Given the description of an element on the screen output the (x, y) to click on. 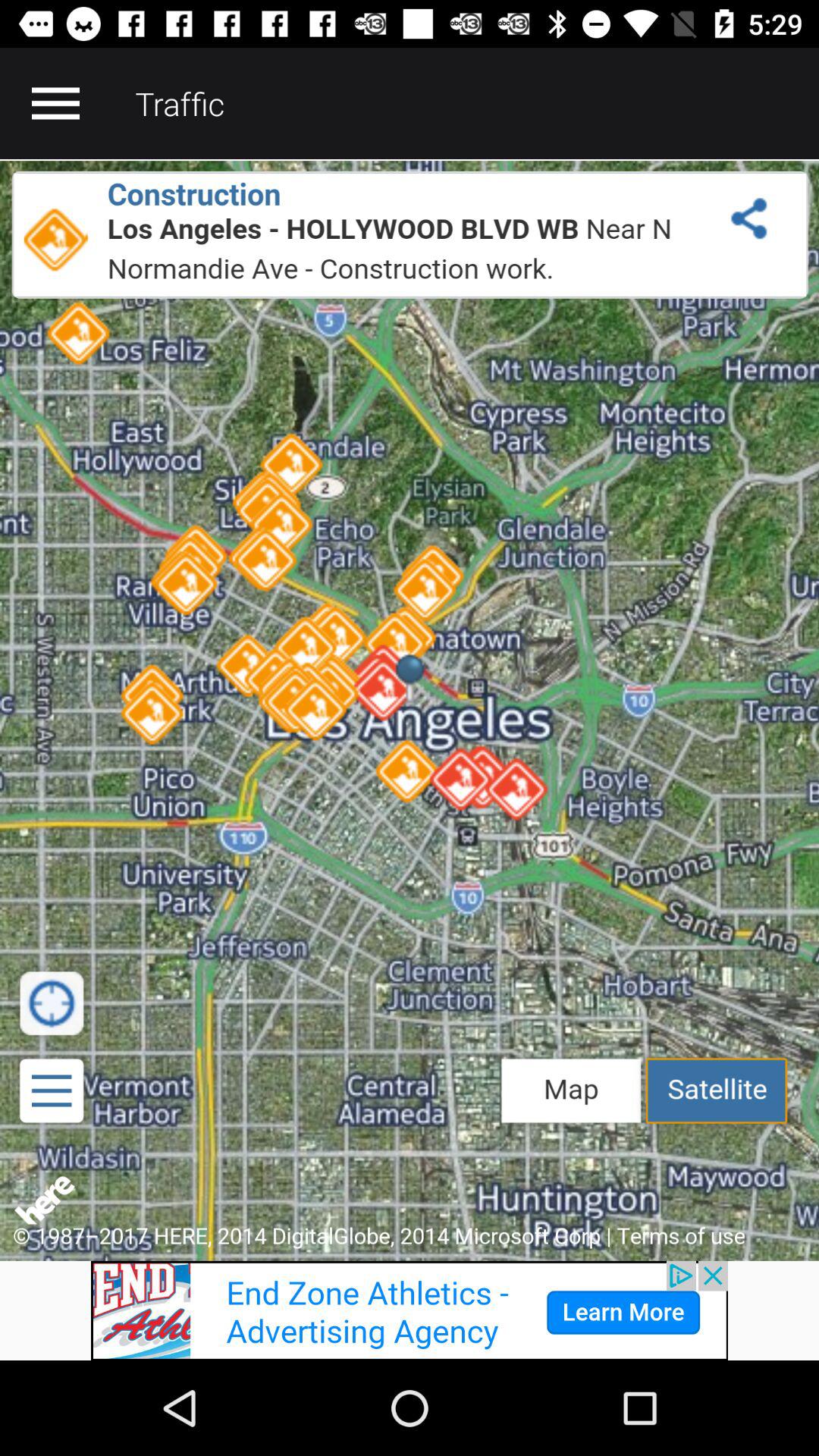
advertisement (409, 1310)
